Given the description of an element on the screen output the (x, y) to click on. 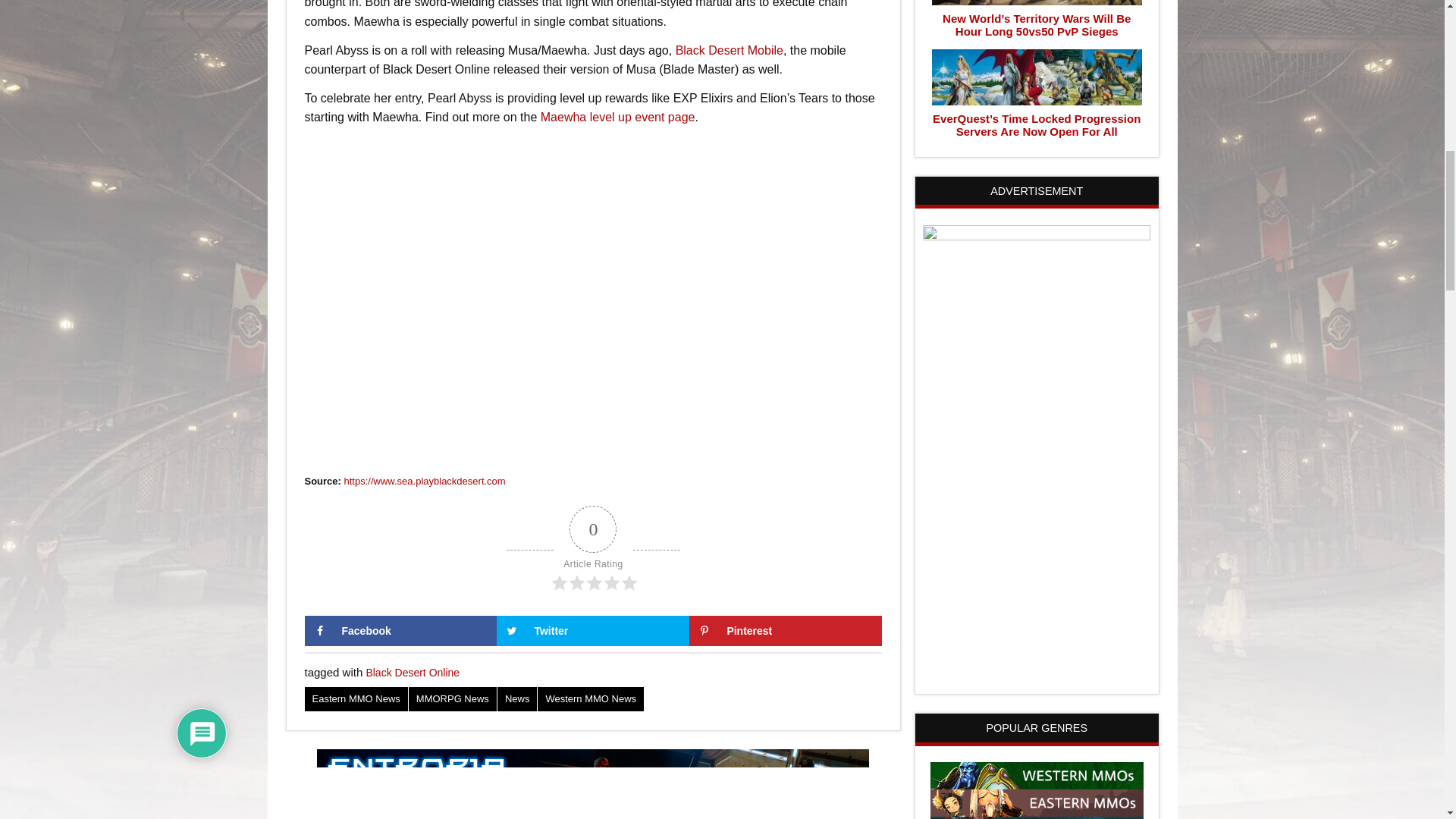
Share on Facebook (400, 630)
Share on Twitter (592, 630)
Save to Pinterest (785, 630)
